Given the description of an element on the screen output the (x, y) to click on. 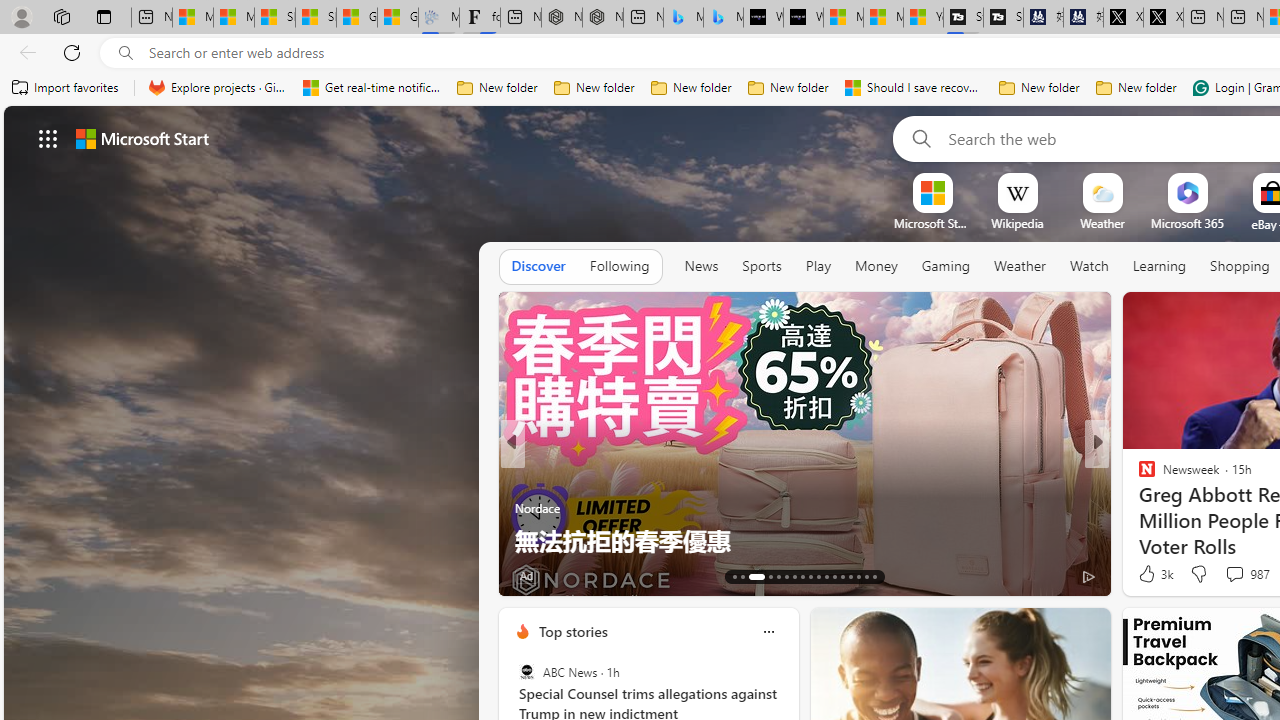
Learning (1159, 267)
Class: control (47, 138)
POLITICO (1138, 475)
Top stories (572, 631)
View comments 22 Comment (1234, 575)
AutomationID: tab-29 (874, 576)
Learning (1159, 265)
